Given the description of an element on the screen output the (x, y) to click on. 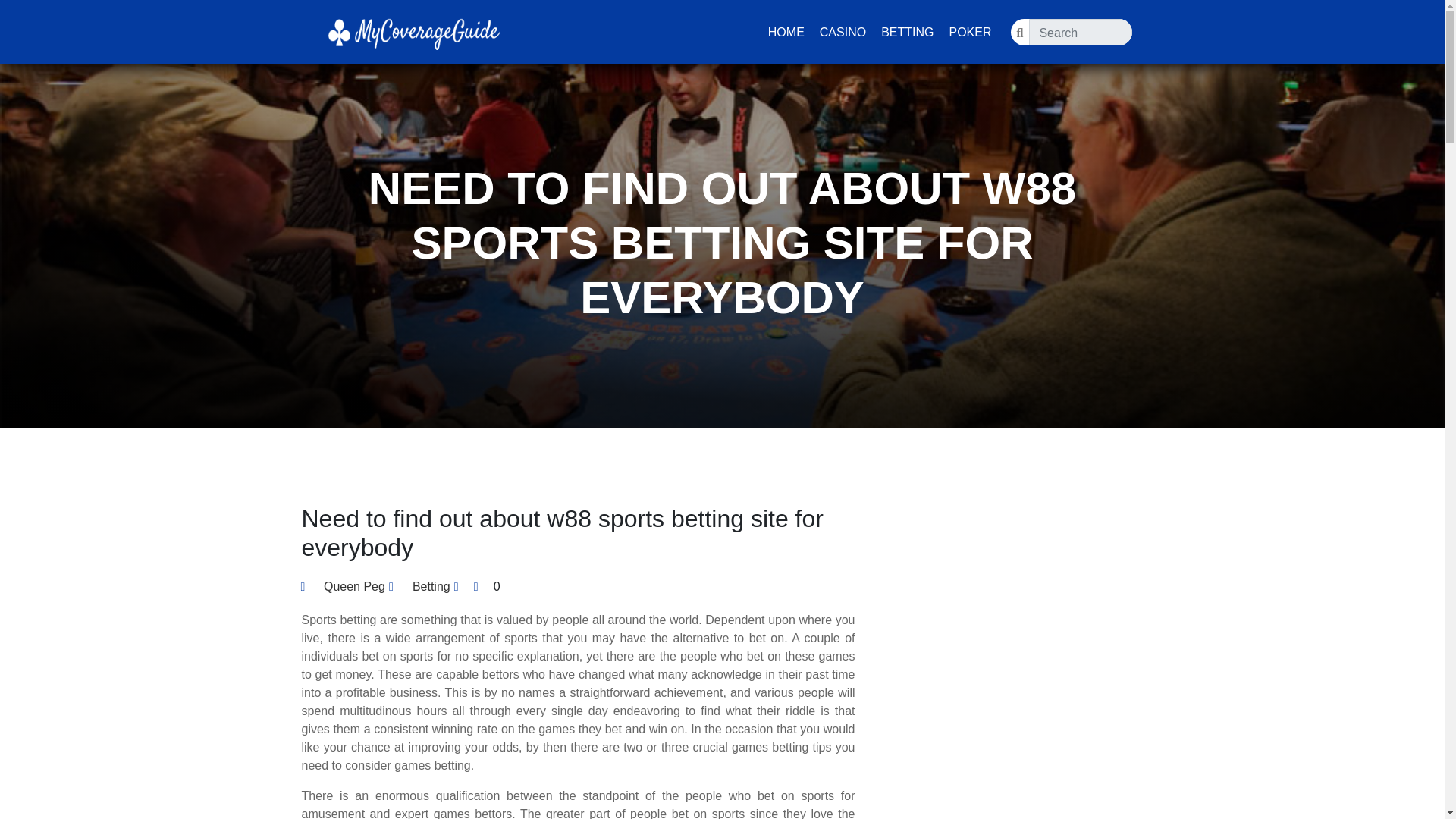
Betting (431, 586)
Queen Peg (342, 586)
